Given the description of an element on the screen output the (x, y) to click on. 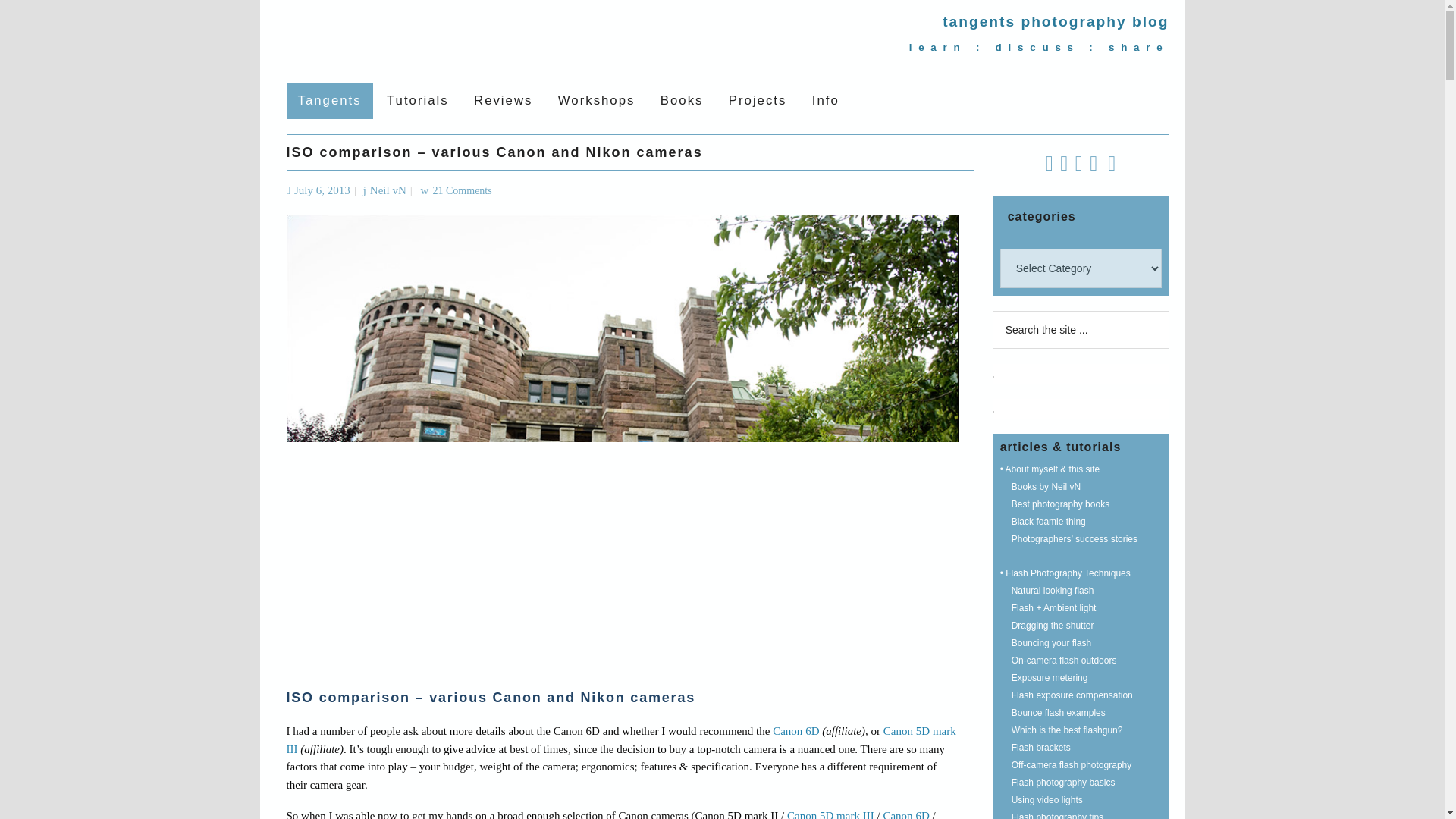
Tangents (430, 38)
Books (681, 100)
Workshops (596, 100)
Projects (757, 100)
Reviews (503, 100)
Tutorials (417, 100)
Tangents (329, 100)
tangents photography blog (1055, 21)
learn : discuss : share (1038, 47)
Tangents (430, 38)
